Given the description of an element on the screen output the (x, y) to click on. 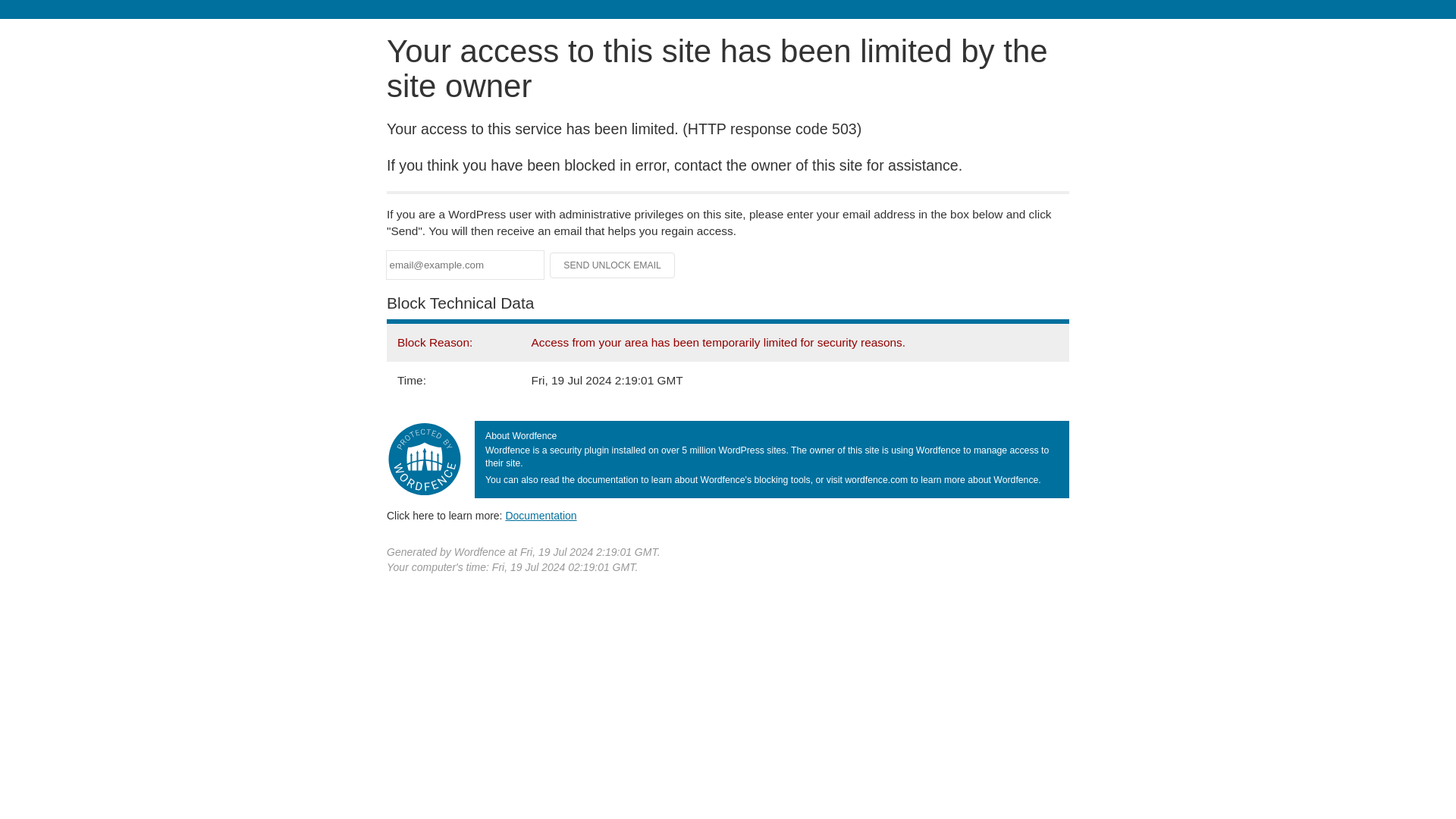
Send Unlock Email (612, 265)
Send Unlock Email (612, 265)
Documentation (540, 515)
